Given the description of an element on the screen output the (x, y) to click on. 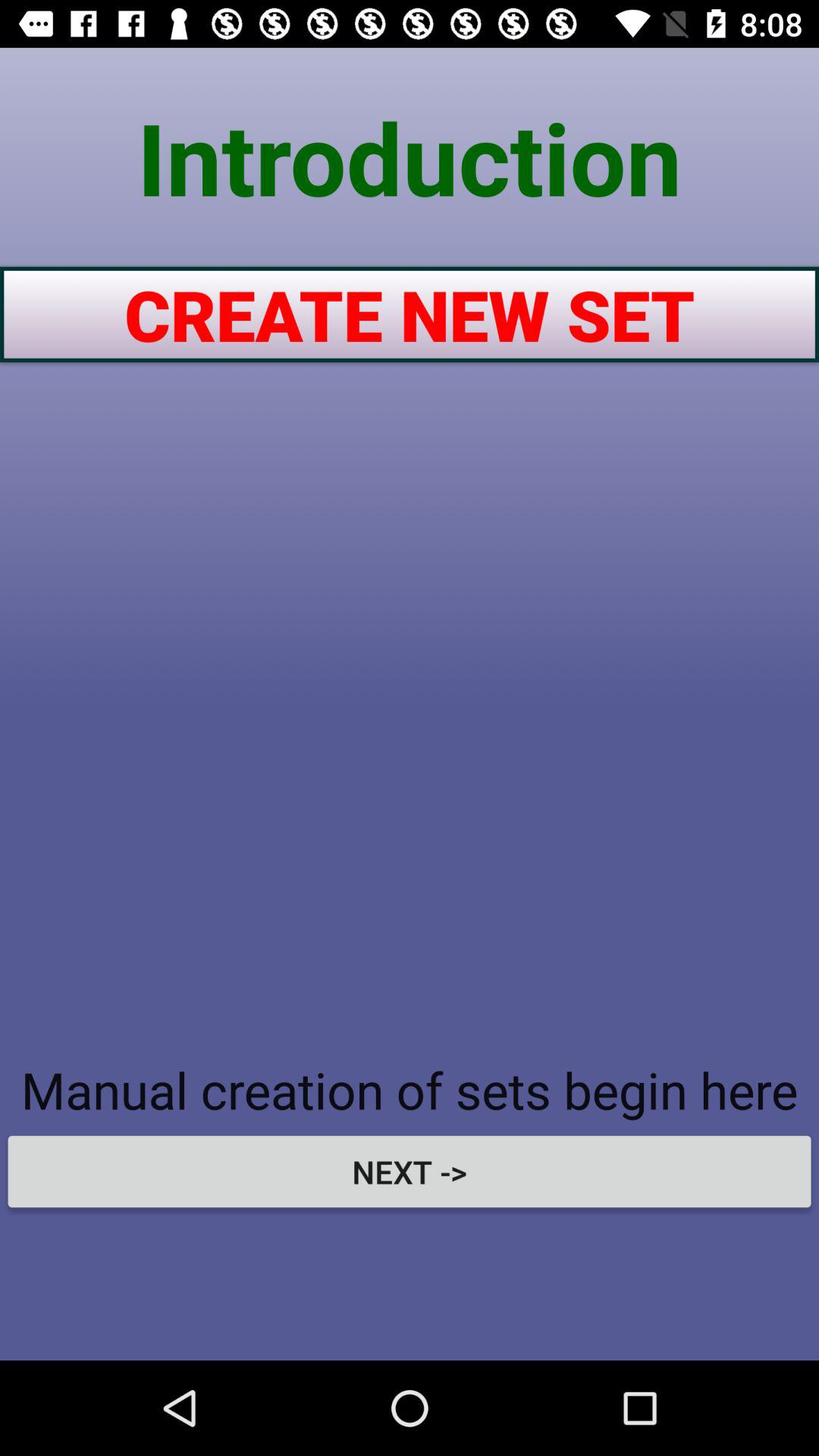
swipe until next -> (409, 1171)
